Given the description of an element on the screen output the (x, y) to click on. 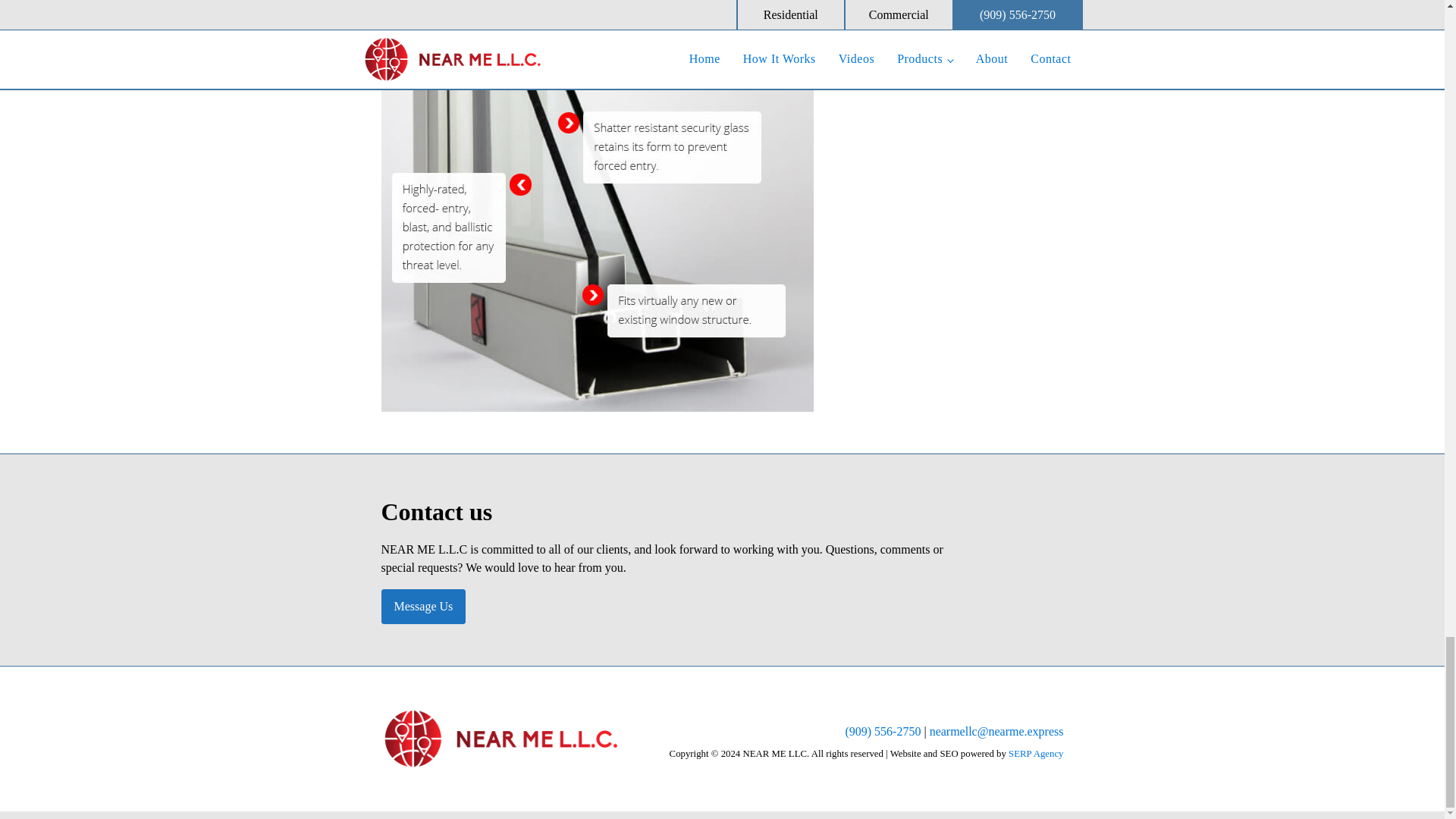
SERP Agency (1035, 753)
Message Us (422, 606)
